Given the description of an element on the screen output the (x, y) to click on. 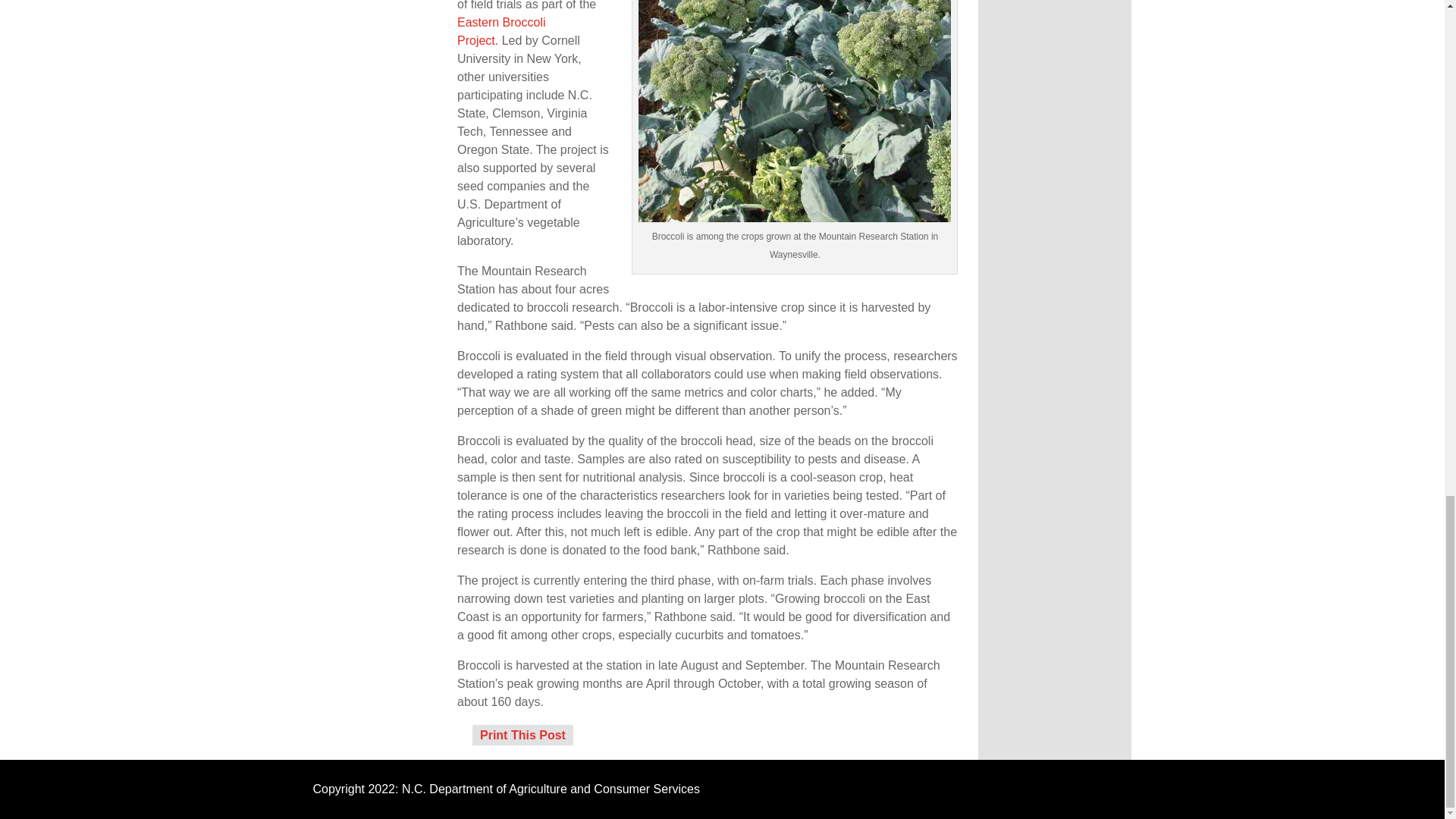
Eastern Broccoli Project. (501, 30)
Print This Post (522, 735)
